Given the description of an element on the screen output the (x, y) to click on. 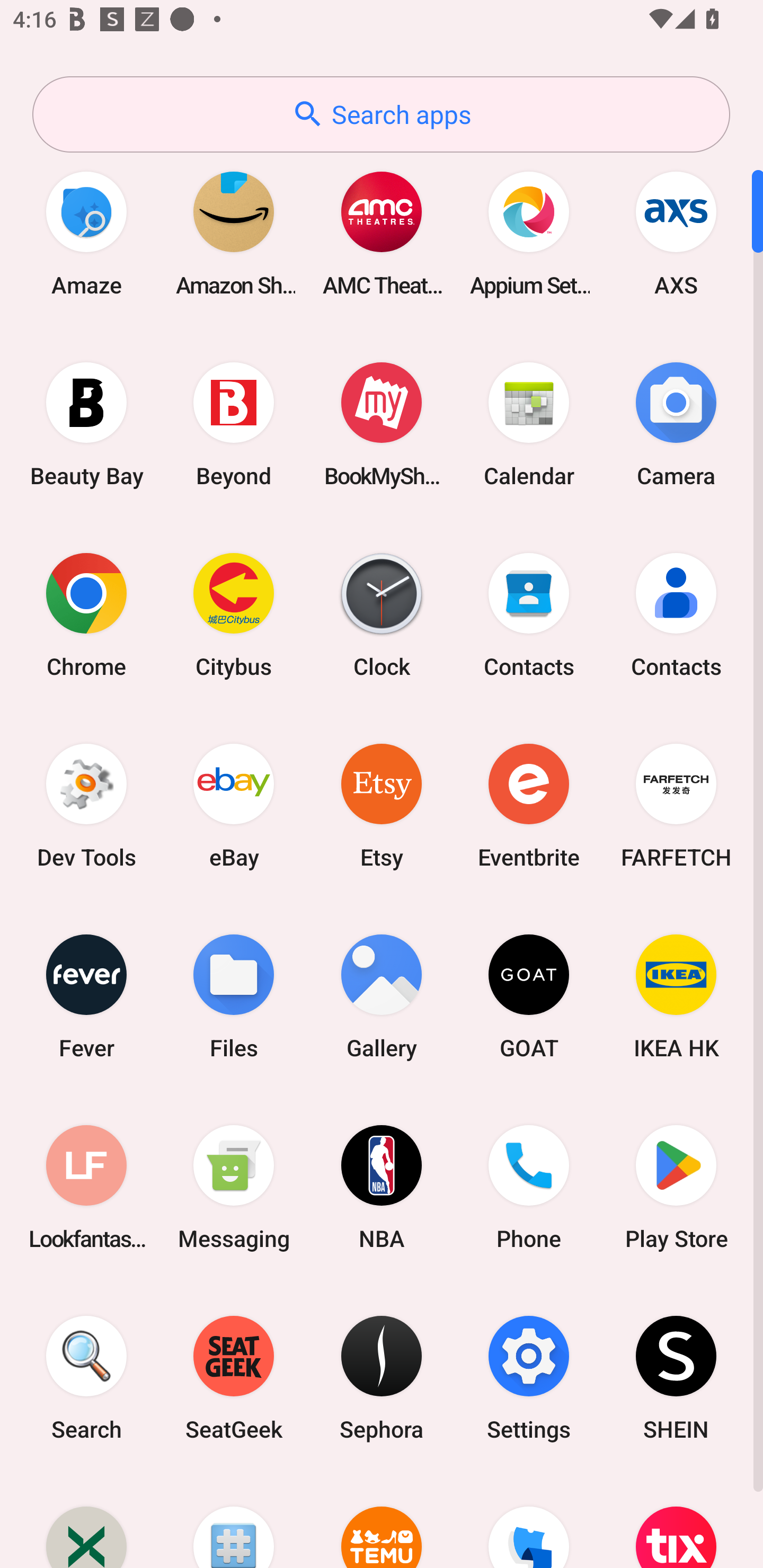
  Search apps (381, 114)
Amaze (86, 233)
Amazon Shopping (233, 233)
AMC Theatres (381, 233)
Appium Settings (528, 233)
AXS (676, 233)
Beauty Bay (86, 424)
Beyond (233, 424)
BookMyShow (381, 424)
Calendar (528, 424)
Camera (676, 424)
Chrome (86, 614)
Citybus (233, 614)
Clock (381, 614)
Contacts (528, 614)
Contacts (676, 614)
Dev Tools (86, 805)
eBay (233, 805)
Etsy (381, 805)
Eventbrite (528, 805)
FARFETCH (676, 805)
Fever (86, 996)
Files (233, 996)
Gallery (381, 996)
GOAT (528, 996)
IKEA HK (676, 996)
Lookfantastic (86, 1186)
Messaging (233, 1186)
NBA (381, 1186)
Phone (528, 1186)
Play Store (676, 1186)
Search (86, 1377)
SeatGeek (233, 1377)
Sephora (381, 1377)
Settings (528, 1377)
SHEIN (676, 1377)
StockX (86, 1520)
Superuser (233, 1520)
Temu (381, 1520)
TickPick (528, 1520)
TodayTix (676, 1520)
